Given the description of an element on the screen output the (x, y) to click on. 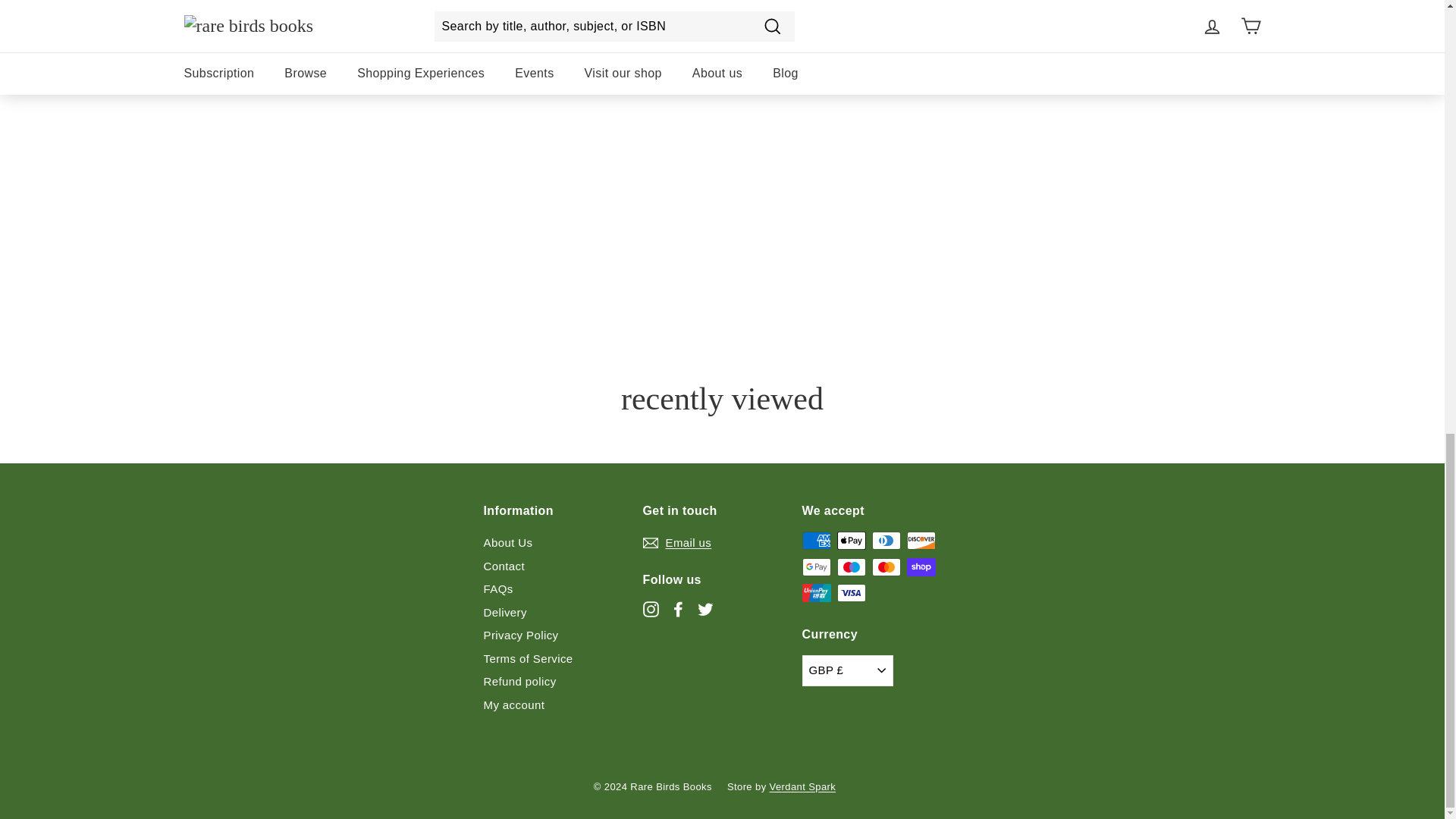
American Express (816, 540)
Rare Birds Books on Facebook (677, 609)
Rare Birds Books on Twitter (705, 609)
Discover (921, 540)
Apple Pay (851, 540)
Mastercard (886, 566)
Visa (851, 592)
Maestro (851, 566)
Google Pay (816, 566)
Rare Birds Books on Instagram (651, 609)
Shop Pay (921, 566)
Diners Club (886, 540)
Union Pay (816, 592)
